Given the description of an element on the screen output the (x, y) to click on. 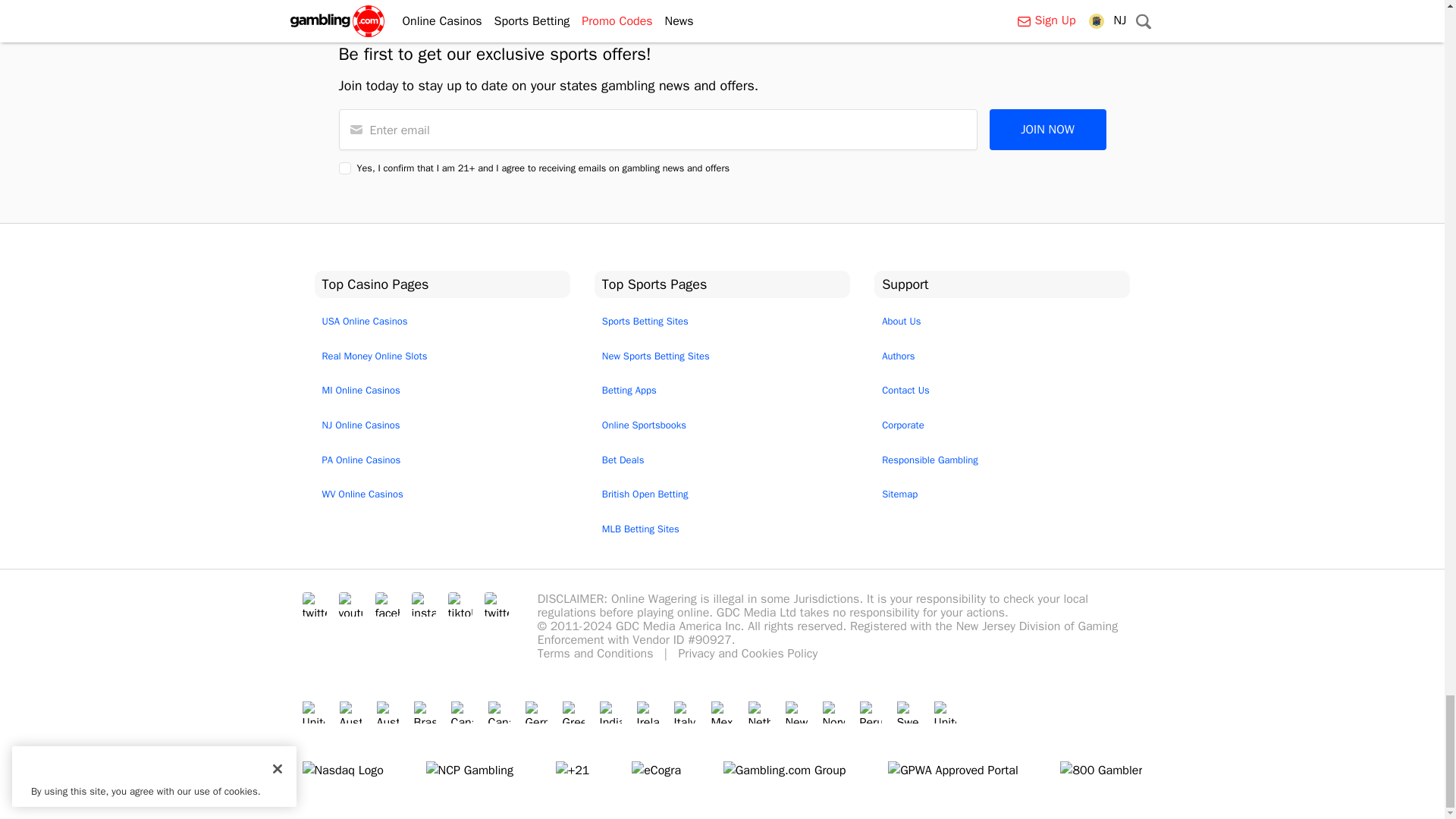
on (343, 168)
